Given the description of an element on the screen output the (x, y) to click on. 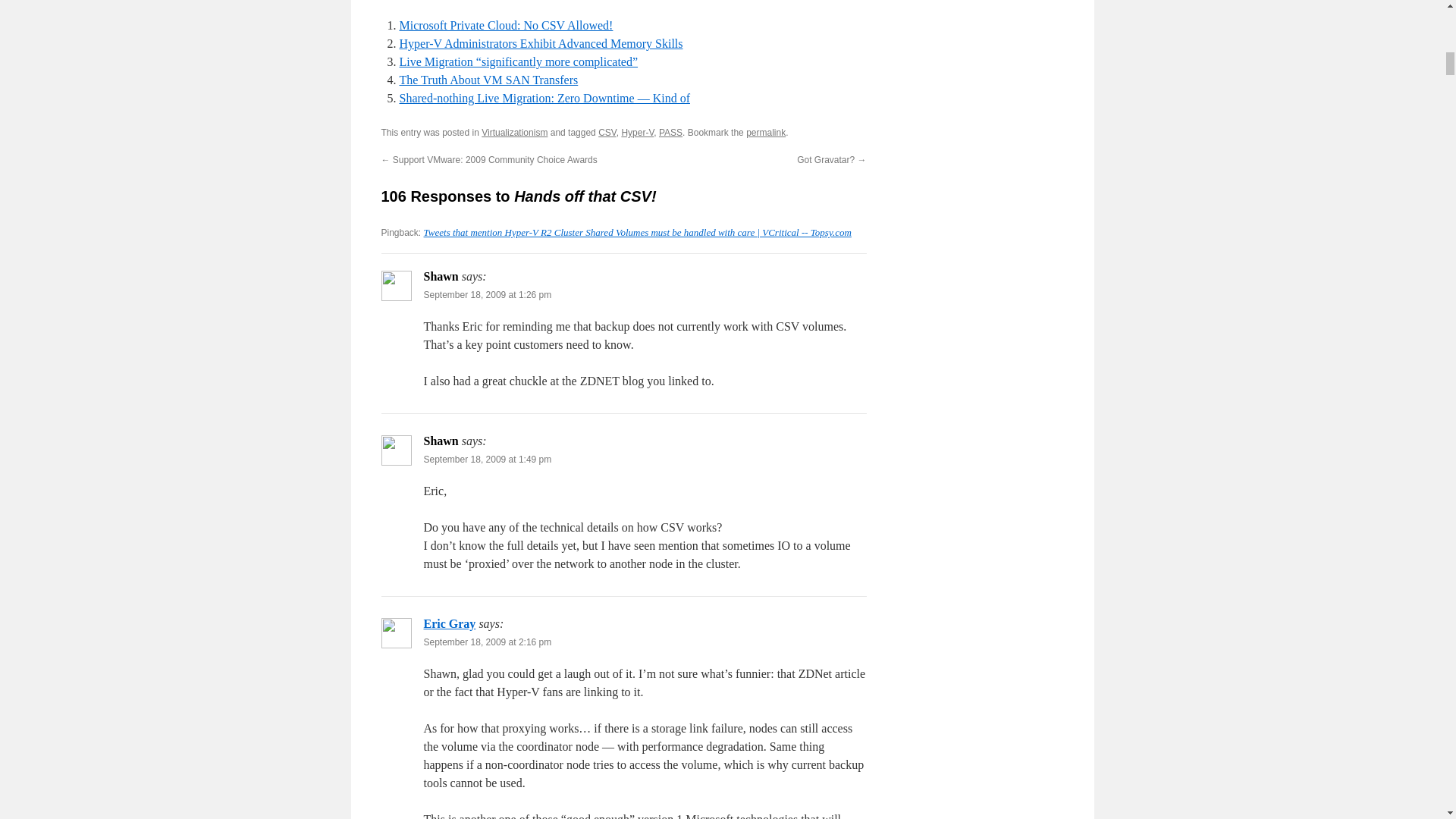
September 18, 2009 at 2:16 pm (487, 642)
September 18, 2009 at 1:49 pm (487, 459)
PASS (670, 132)
Eric Gray (449, 623)
permalink (765, 132)
Hyper-V Administrators Exhibit Advanced Memory Skills (540, 42)
September 18, 2009 at 1:26 pm (487, 294)
Hyper-V Administrators Exhibit Advanced Memory Skills (540, 42)
Microsoft Private Cloud: No CSV Allowed! (505, 24)
Virtualizationism (514, 132)
